Given the description of an element on the screen output the (x, y) to click on. 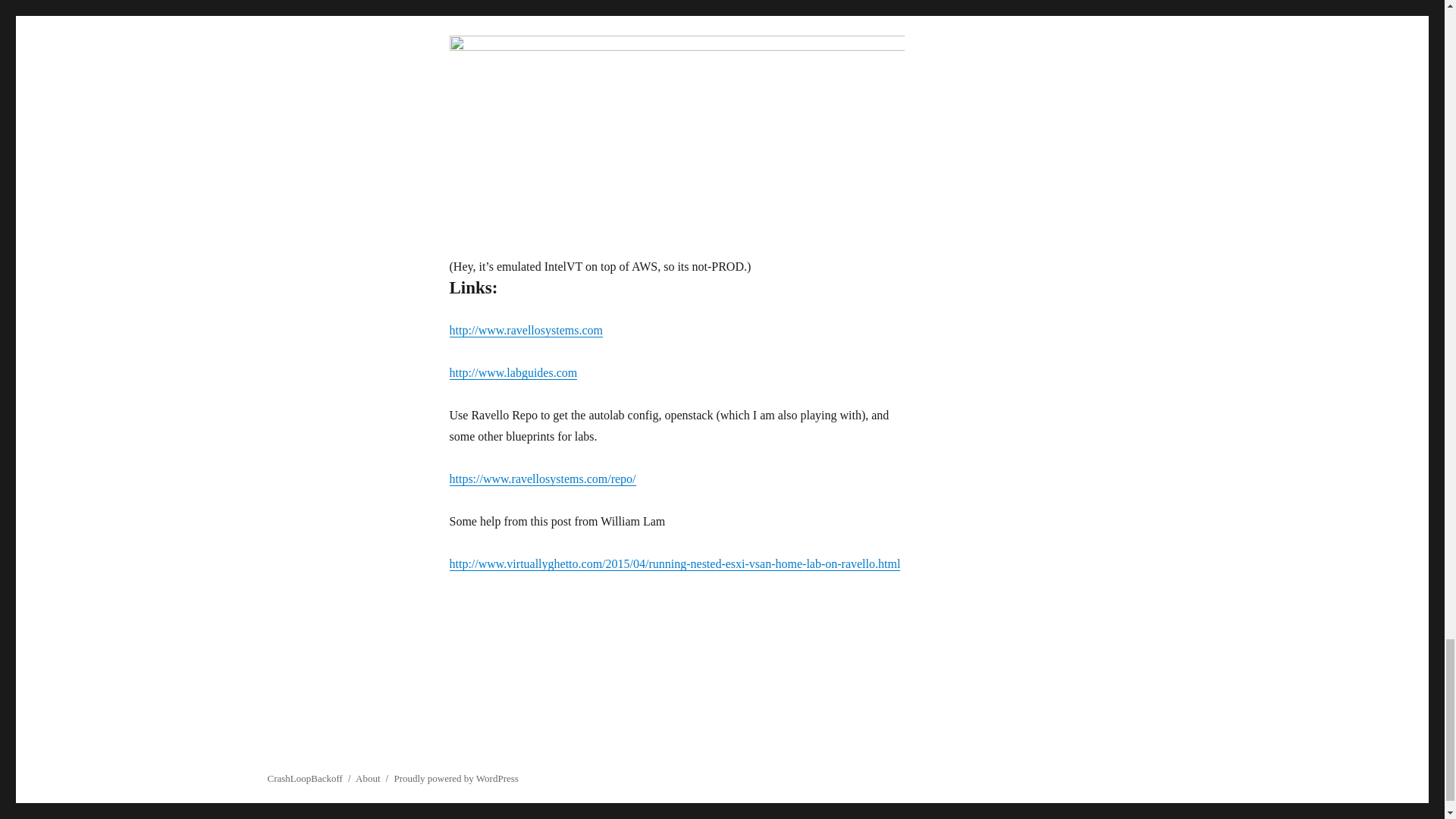
About (367, 778)
CrashLoopBackoff (304, 778)
Proudly powered by WordPress (455, 778)
